Given the description of an element on the screen output the (x, y) to click on. 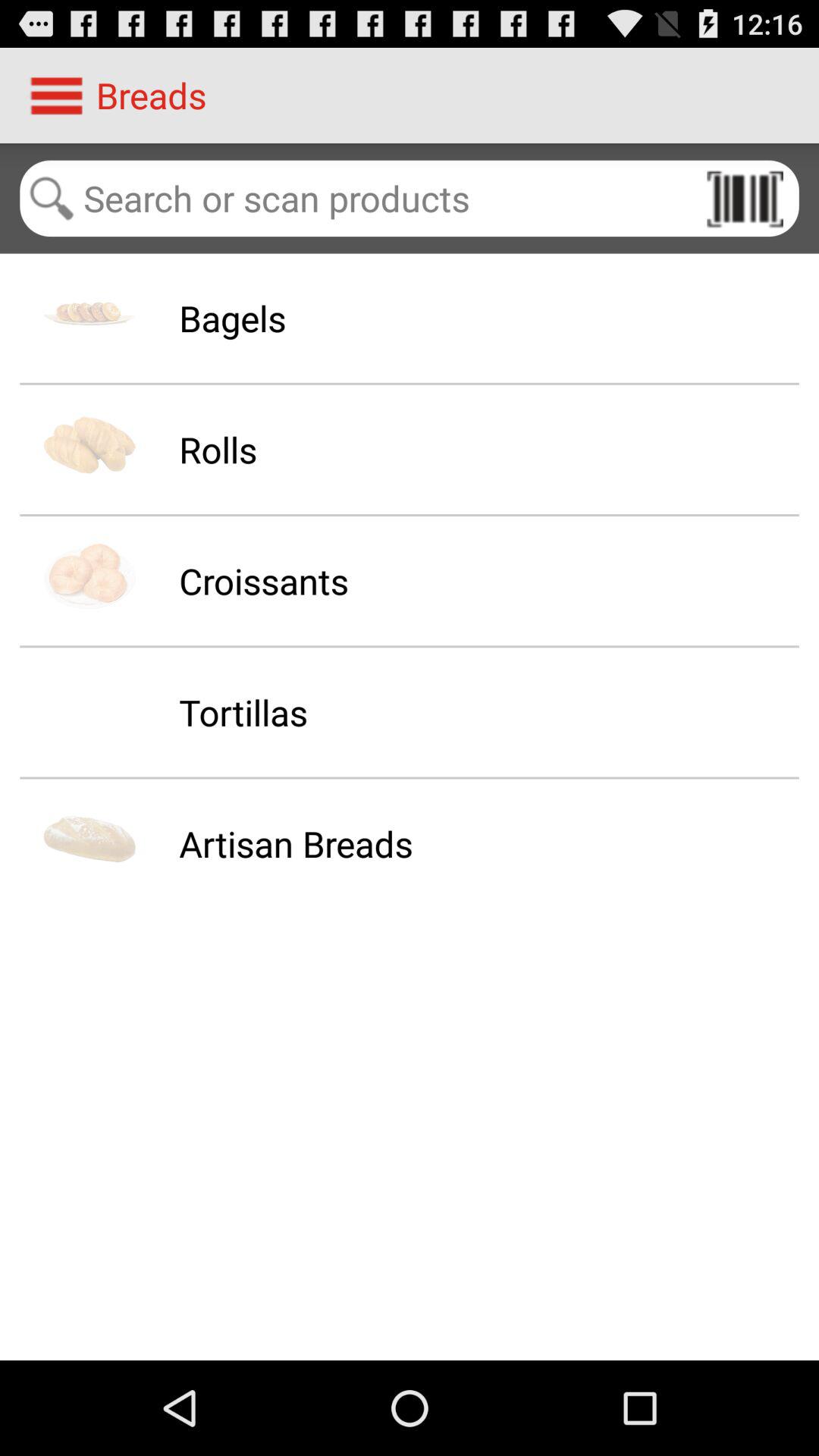
press the app at the center (295, 843)
